Given the description of an element on the screen output the (x, y) to click on. 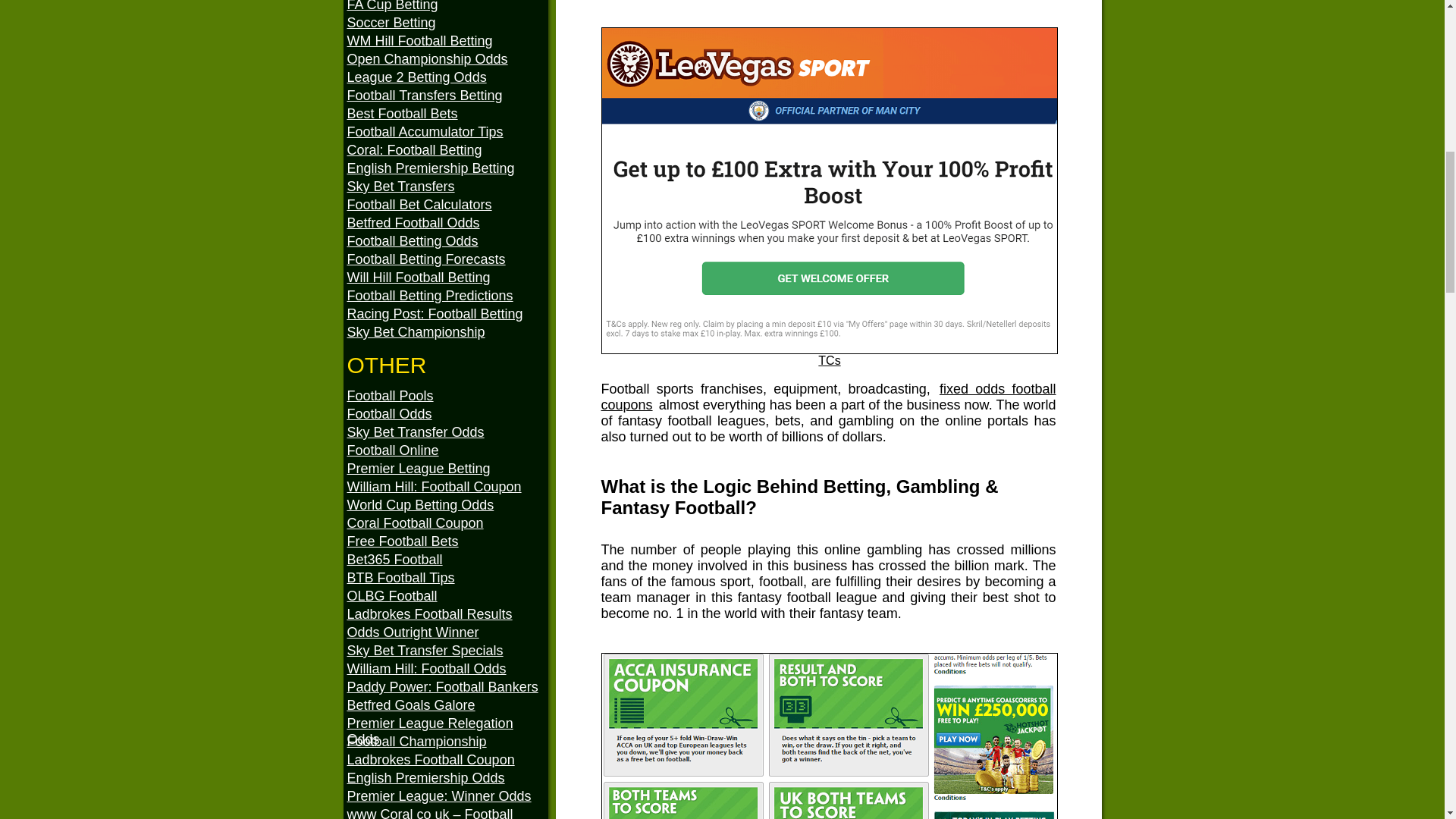
Open Championship Odds (447, 59)
English Premiership Betting (447, 168)
Soccer Betting (447, 23)
WM Hill Football Betting (447, 41)
League 2 Betting Odds (447, 77)
Best Football Bets (447, 114)
Football Accumulator Tips (447, 132)
Football Transfers Betting (447, 95)
FA Cup Betting (447, 8)
Coral: Football Betting (447, 150)
